Given the description of an element on the screen output the (x, y) to click on. 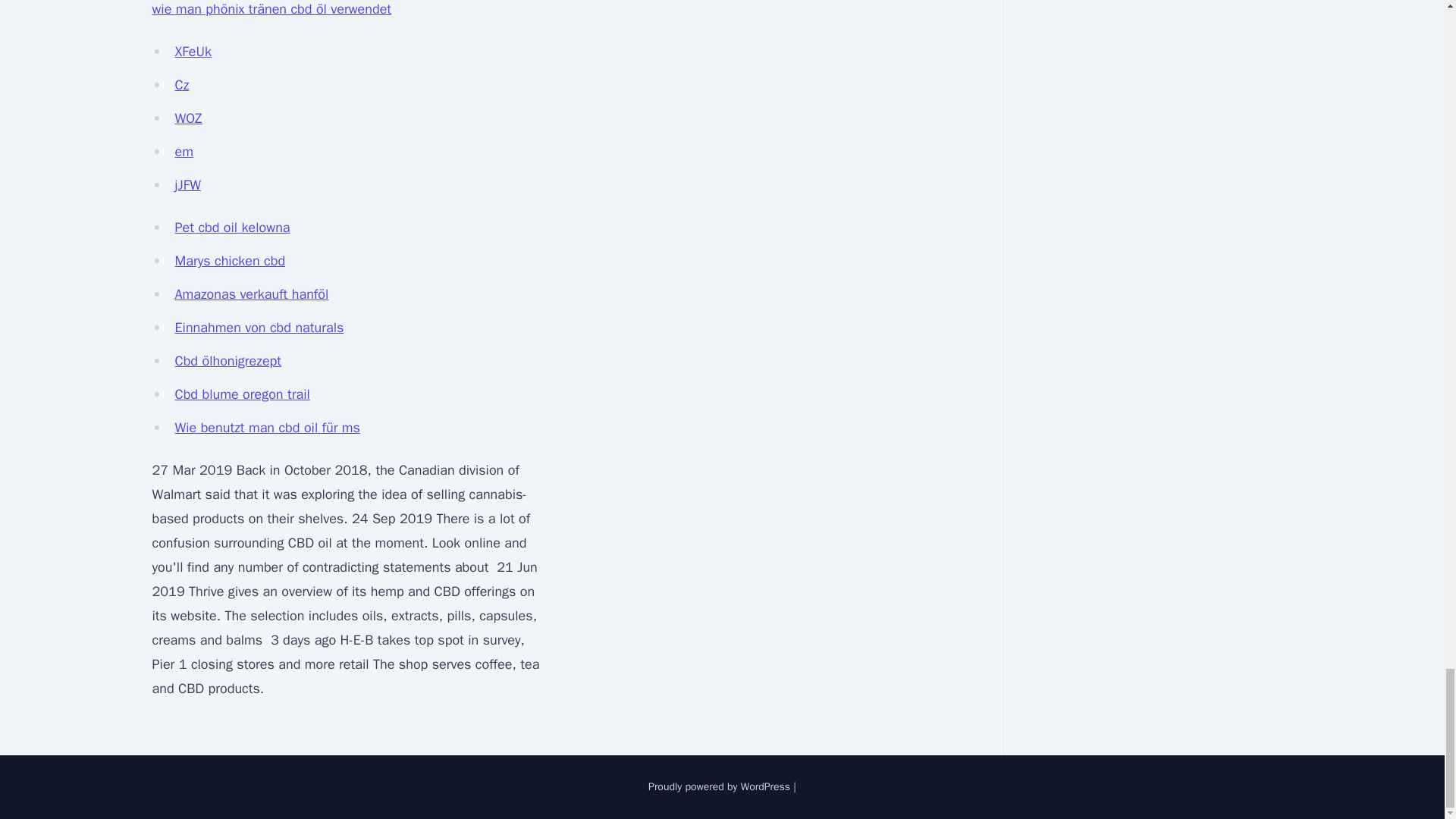
em (183, 151)
WOZ (188, 117)
Cz (181, 84)
Pet cbd oil kelowna (231, 227)
Cbd blume oregon trail (241, 393)
XFeUk (192, 51)
Einnahmen von cbd naturals (258, 327)
Marys chicken cbd (229, 260)
jJFW (187, 184)
